Given the description of an element on the screen output the (x, y) to click on. 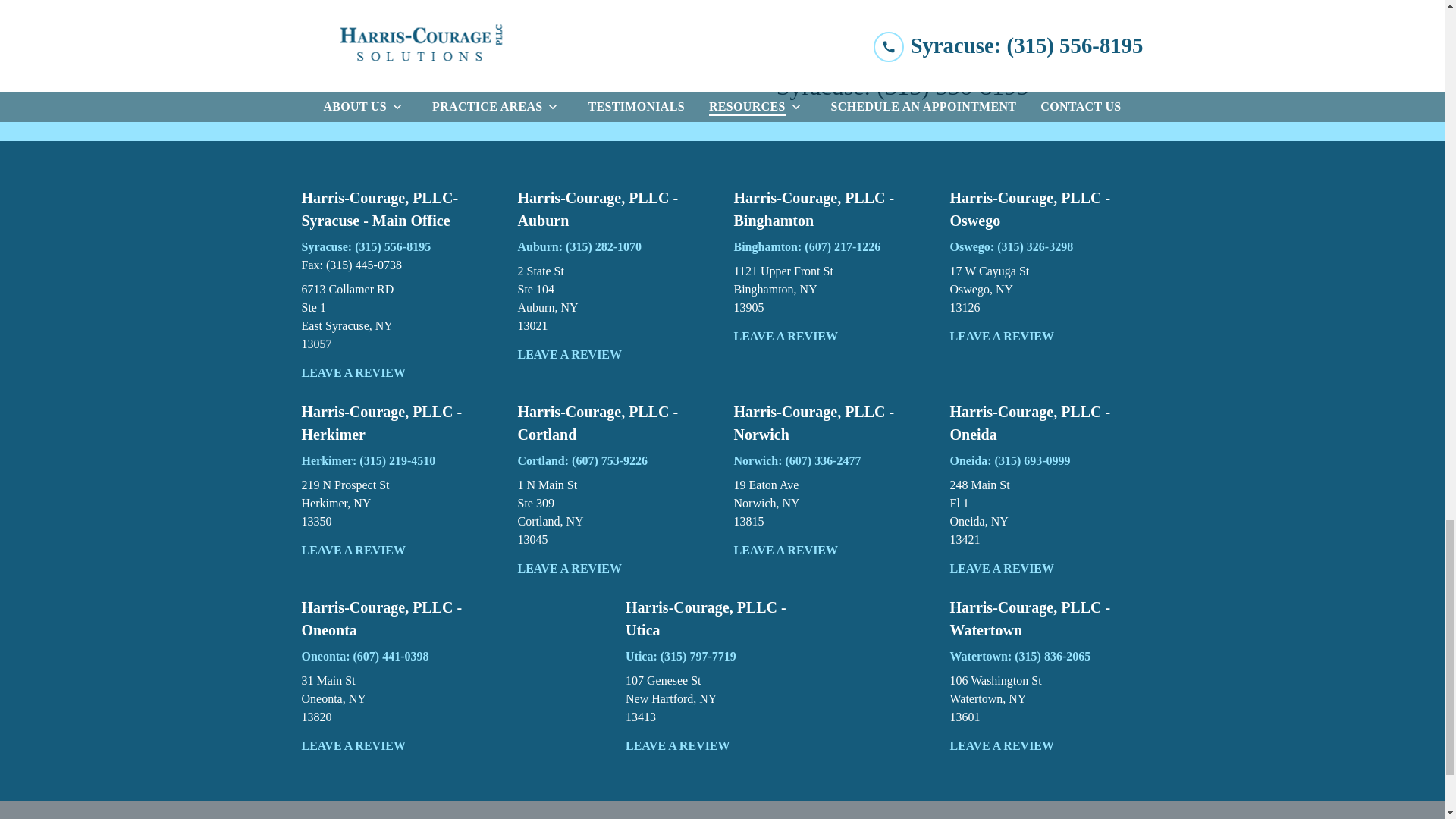
LEAVE A REVIEW (398, 316)
LEAVE A REVIEW (613, 298)
